Given the description of an element on the screen output the (x, y) to click on. 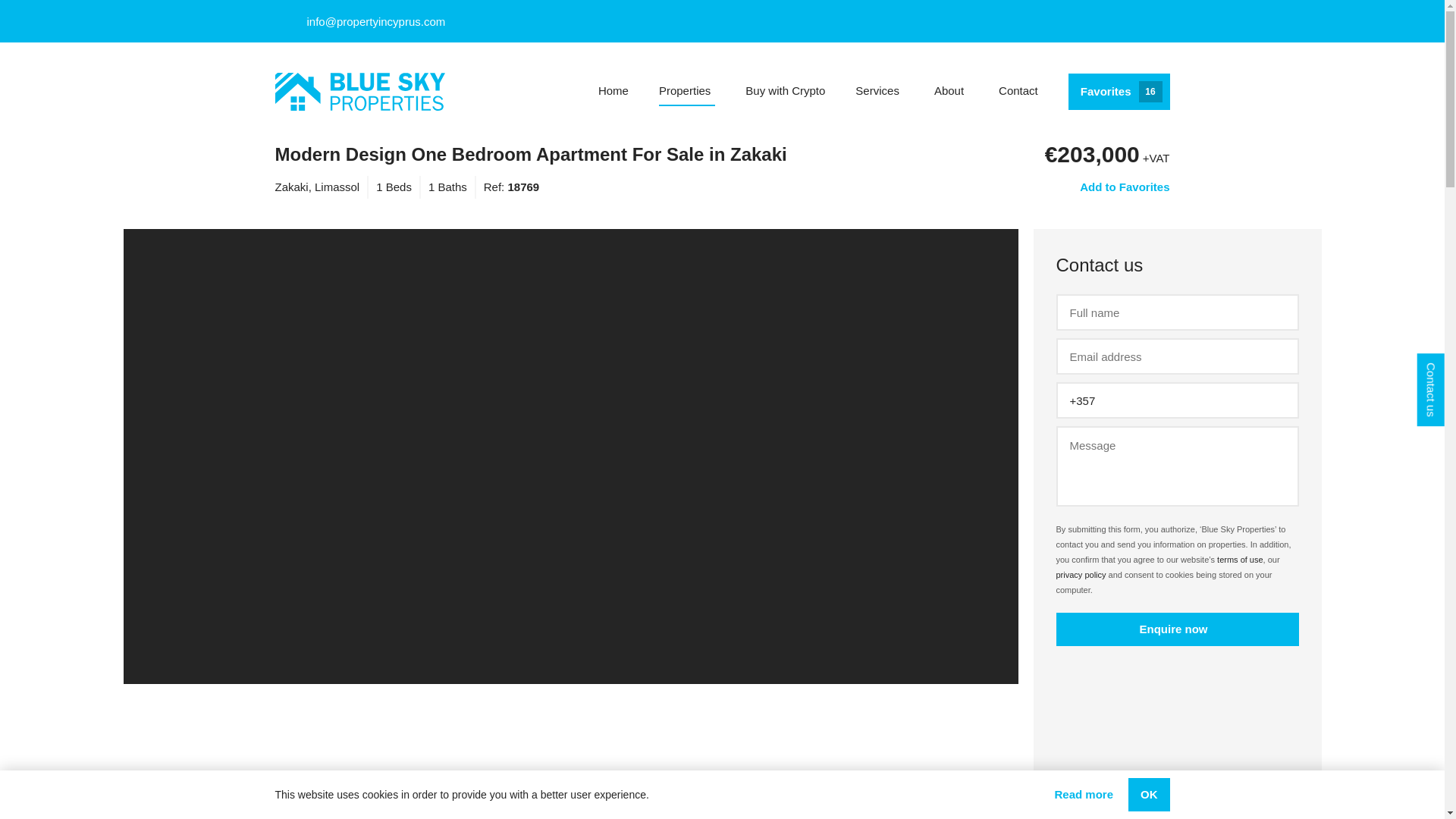
About (1119, 91)
Buy with Crypto (951, 91)
Add to Favorites (785, 91)
Contact (1120, 187)
Properties (1018, 91)
Services (686, 91)
Home (880, 91)
